Given the description of an element on the screen output the (x, y) to click on. 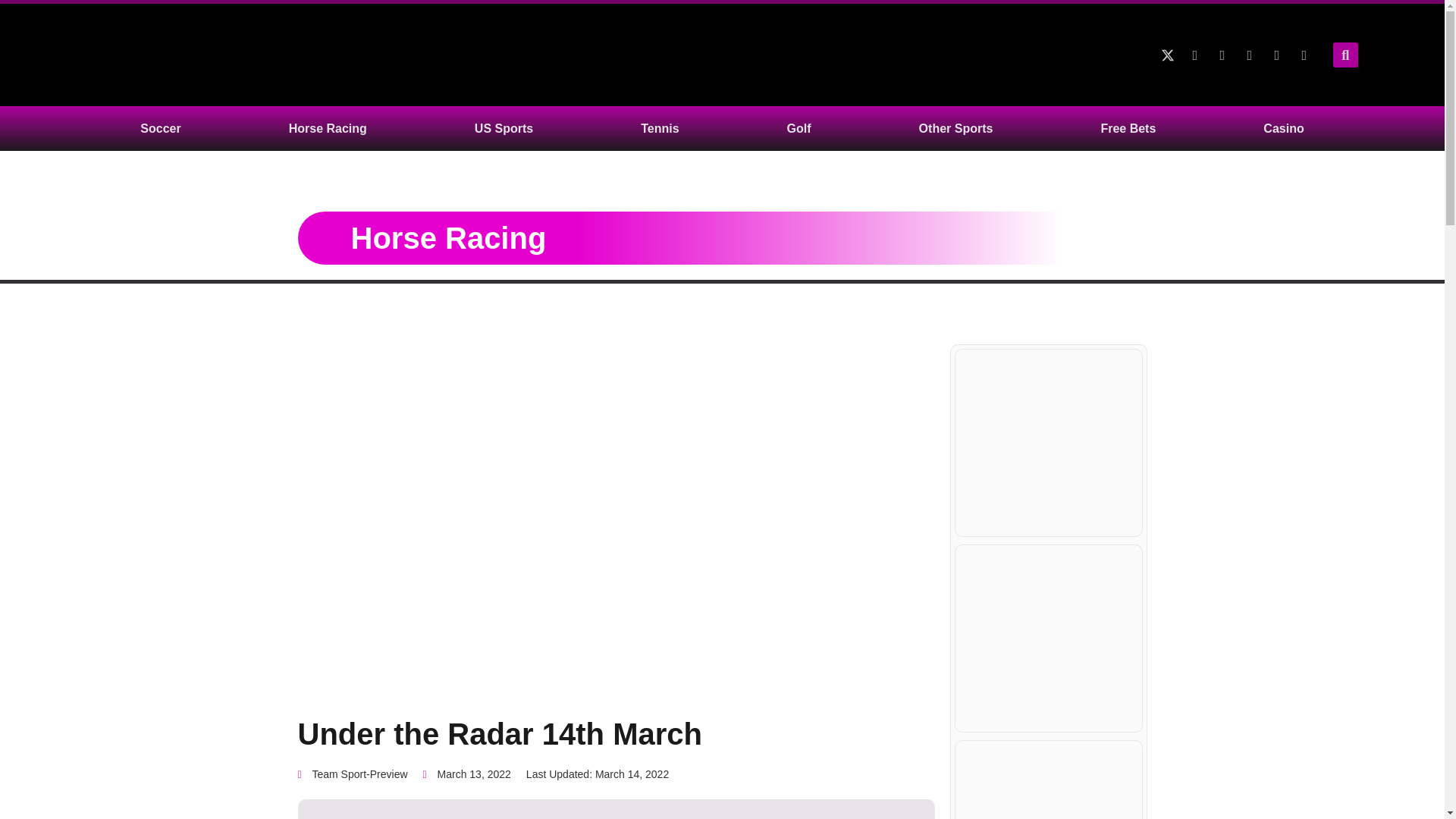
Free Bets (1127, 128)
Golf (798, 128)
Team Sport-Preview (352, 774)
Horse Racing (448, 237)
US Sports (503, 128)
Horse Racing (327, 128)
Casino (1282, 128)
Soccer (159, 128)
Other Sports (955, 128)
Tennis (659, 128)
